Given the description of an element on the screen output the (x, y) to click on. 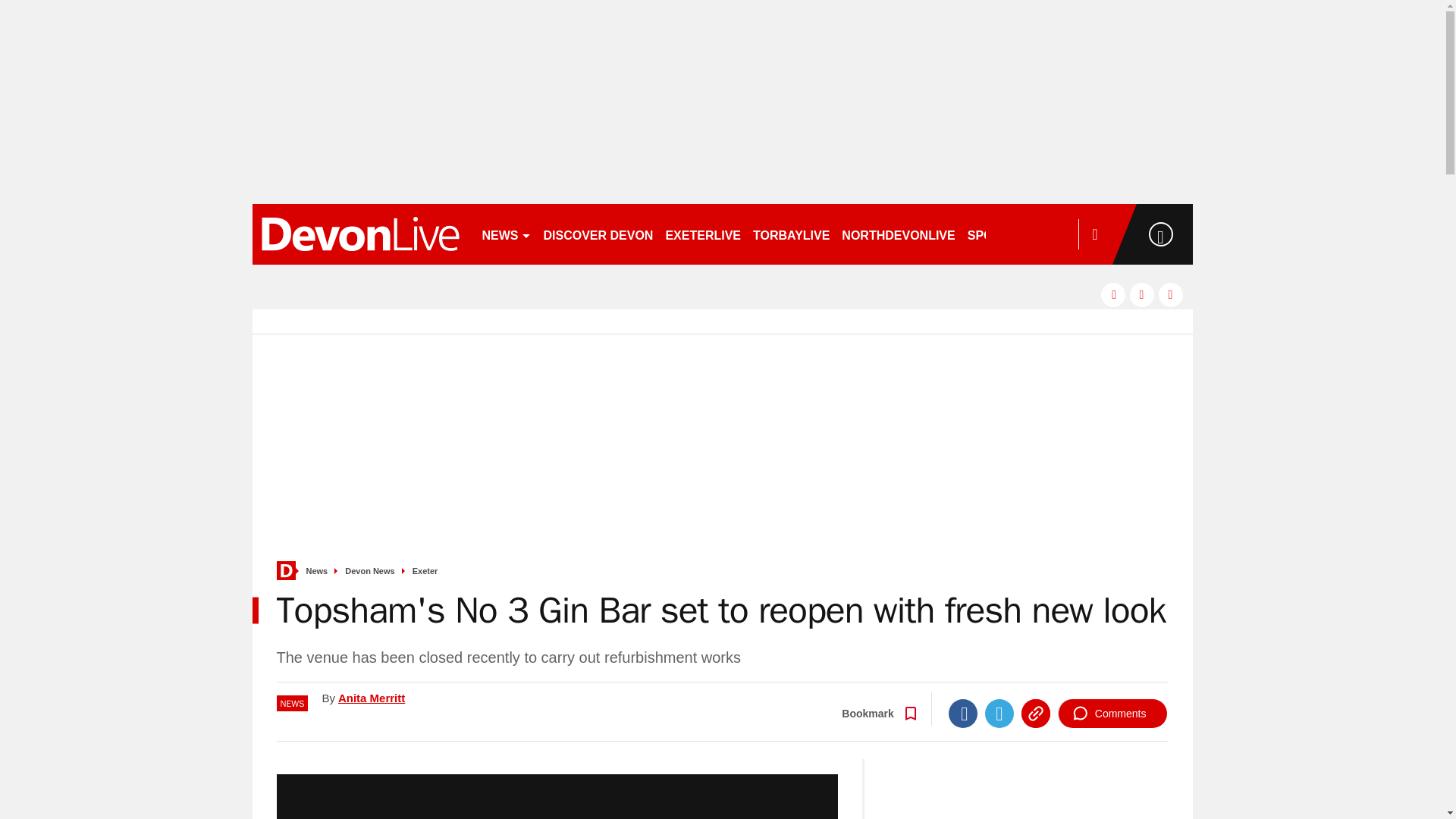
SPORT (993, 233)
NORTHDEVONLIVE (897, 233)
devonlive (359, 233)
Twitter (999, 713)
Facebook (962, 713)
twitter (1141, 294)
facebook (1112, 294)
EXETERLIVE (702, 233)
TORBAYLIVE (790, 233)
DISCOVER DEVON (598, 233)
instagram (1170, 294)
NEWS (506, 233)
Comments (1112, 713)
